Given the description of an element on the screen output the (x, y) to click on. 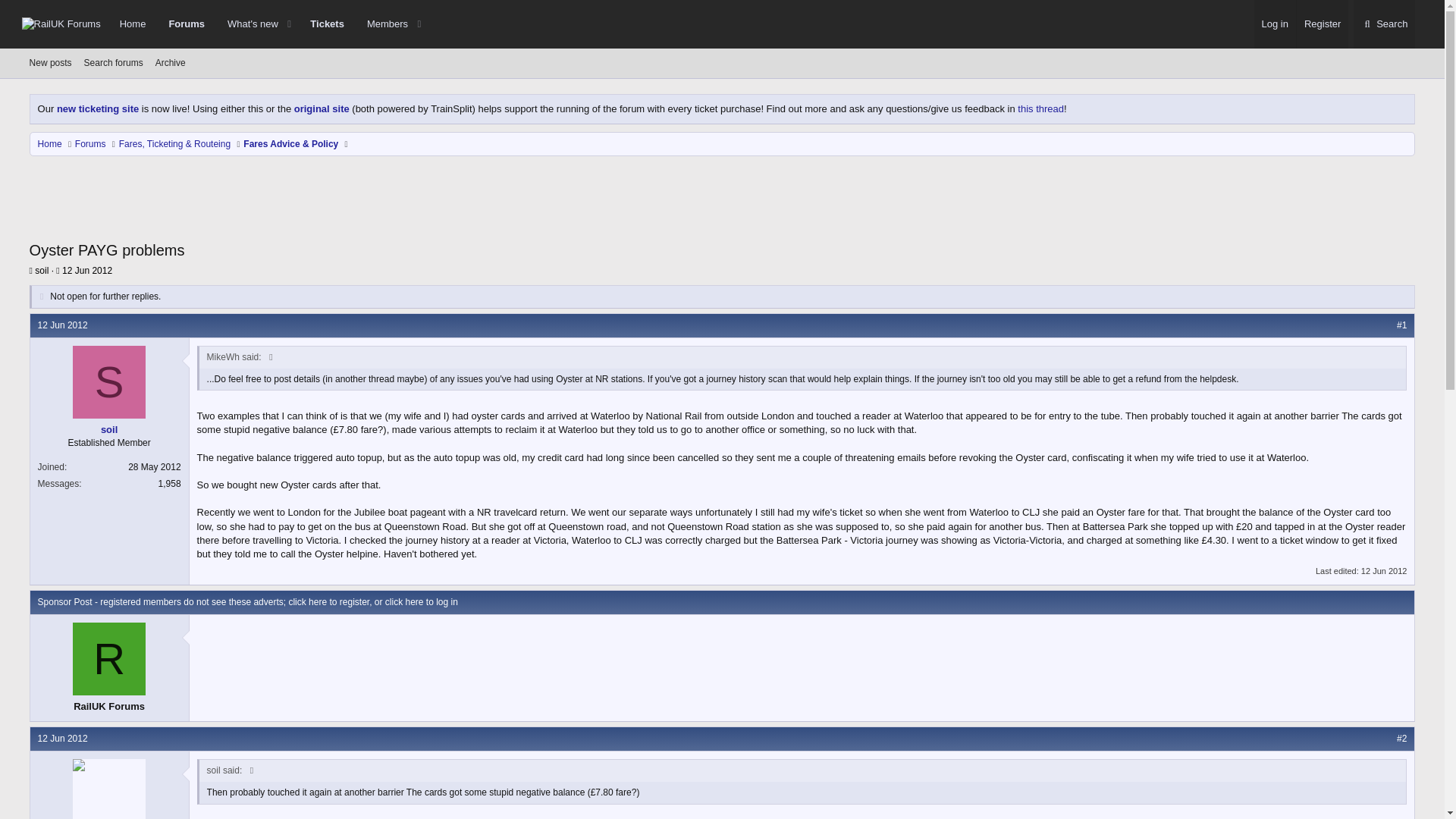
12 Jun 2012 at 03:35 (62, 738)
Register (1321, 24)
Forums (186, 24)
Archive (170, 63)
12 Jun 2012 at 03:15 (1384, 570)
Search forums (113, 63)
12 Jun 2012 at 03:06 (87, 270)
Tickets (326, 24)
12 Jun 2012 at 03:06 (268, 24)
Members (62, 325)
What's new (382, 24)
Home (247, 24)
Search (132, 24)
